Given the description of an element on the screen output the (x, y) to click on. 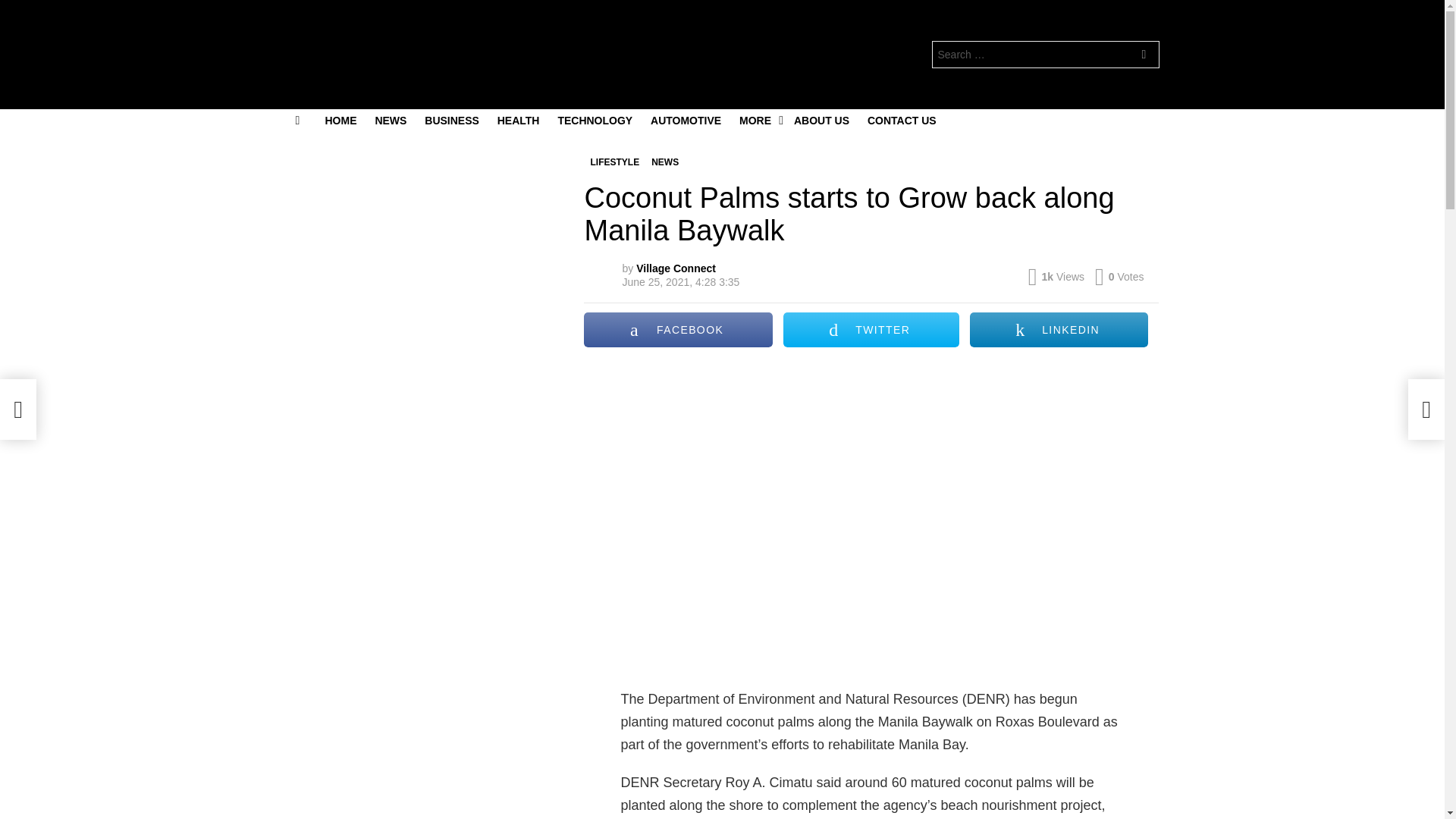
FACEBOOK (677, 329)
Share on Facebook (677, 329)
AUTOMOTIVE (686, 119)
Posts by Village Connect (676, 268)
CONTACT US (901, 119)
TWITTER (871, 329)
Search for: (1044, 53)
HEALTH (518, 119)
NEWS (664, 161)
SEARCH (1143, 56)
